Given the description of an element on the screen output the (x, y) to click on. 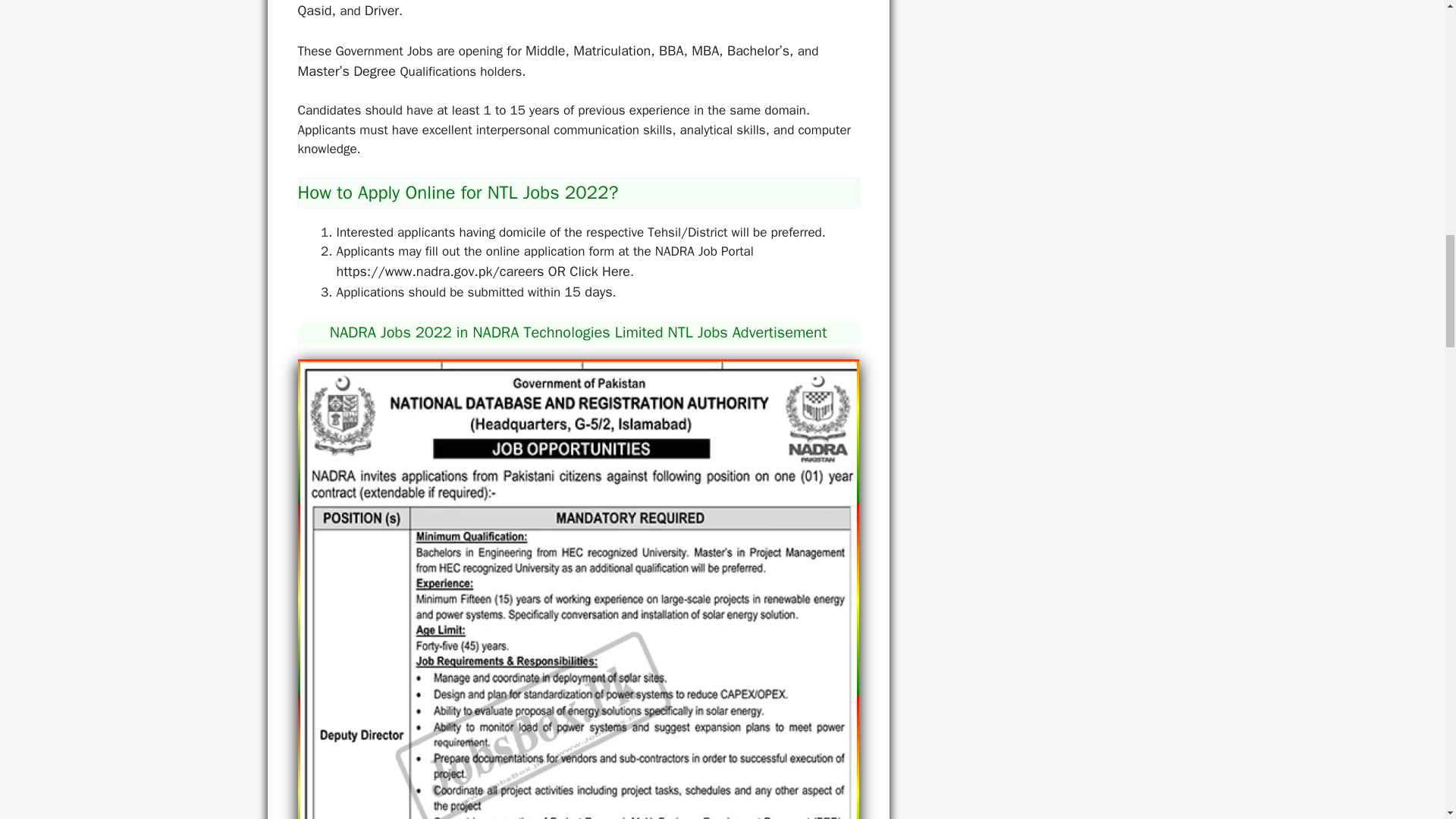
Click Here (599, 271)
